Given the description of an element on the screen output the (x, y) to click on. 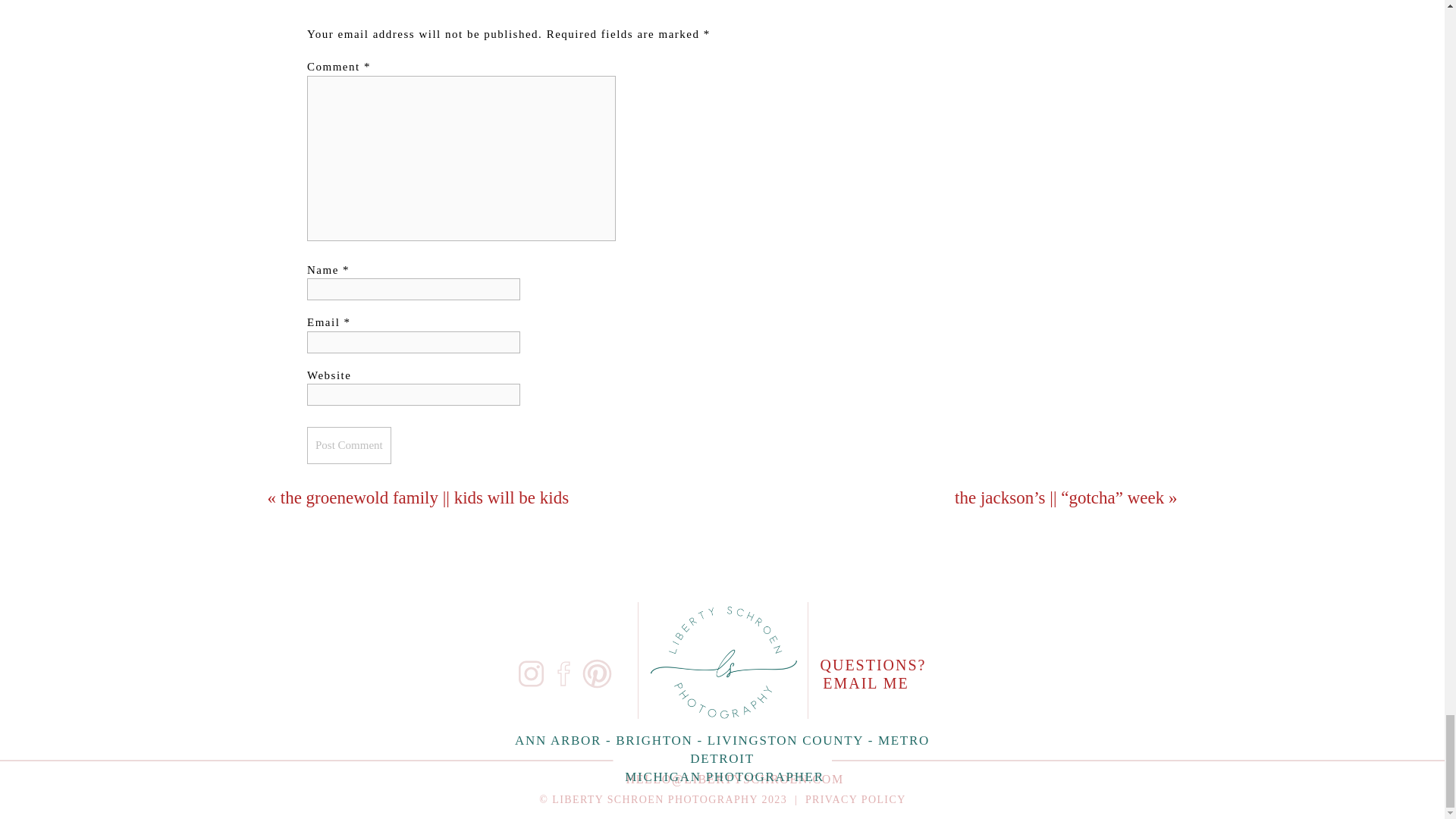
Post Comment (349, 445)
Post Comment (349, 445)
